Given the description of an element on the screen output the (x, y) to click on. 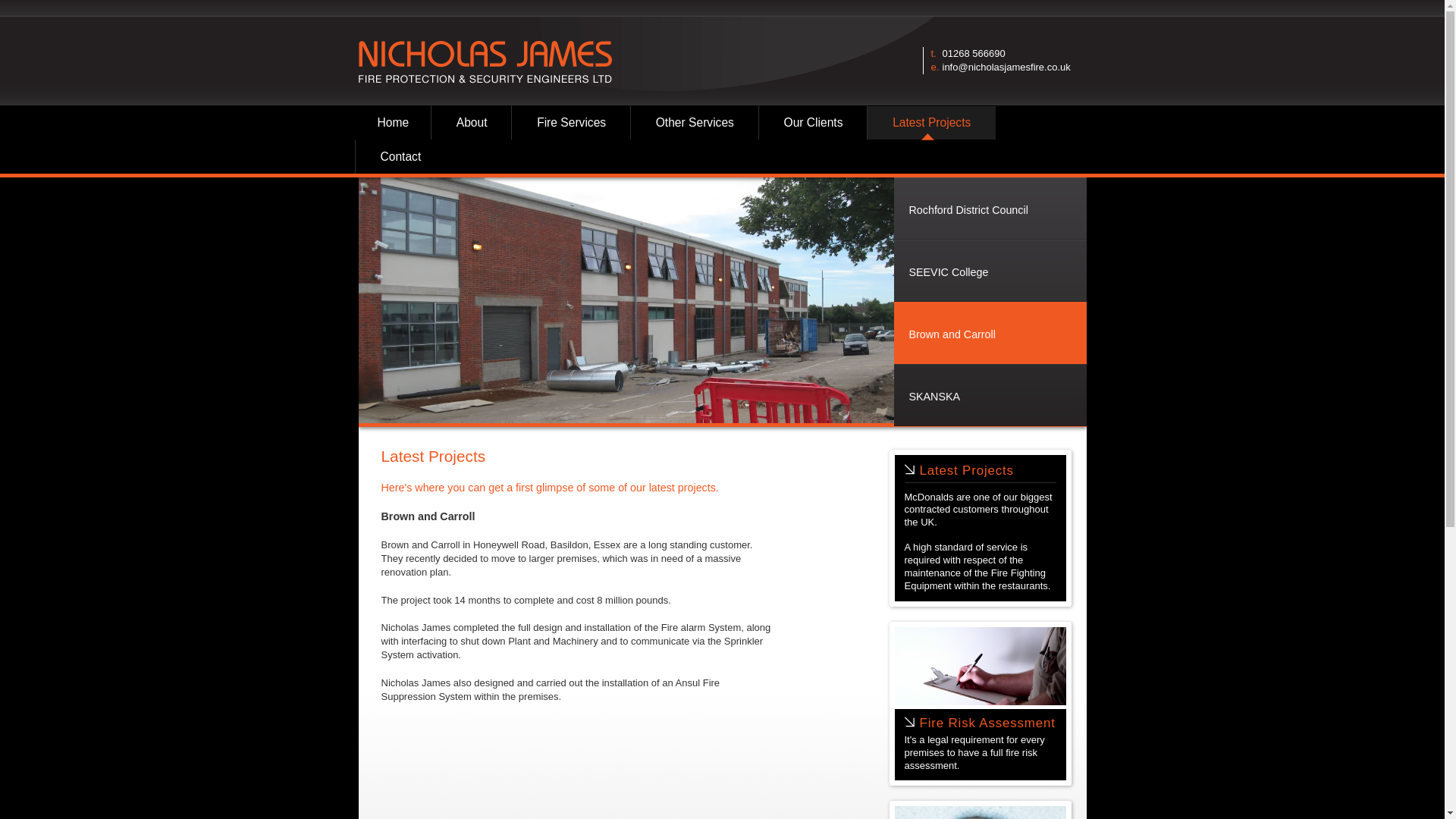
Contact (400, 156)
Latest Projects (930, 121)
Home (393, 121)
SEEVIC College (989, 270)
SKANSKA (989, 394)
About (471, 121)
Our Clients (812, 121)
Other Services (694, 121)
Brown and Carroll (989, 332)
Latest Projects (965, 469)
Fire Risk Assessment (986, 722)
Rochford District Council (989, 208)
Fire Services (570, 121)
